Given the description of an element on the screen output the (x, y) to click on. 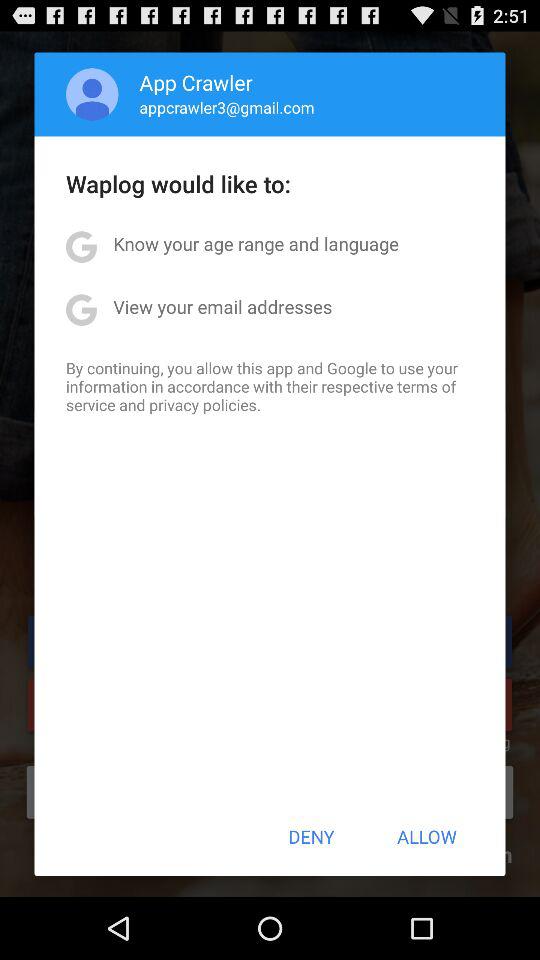
scroll to appcrawler3@gmail.com item (226, 107)
